Given the description of an element on the screen output the (x, y) to click on. 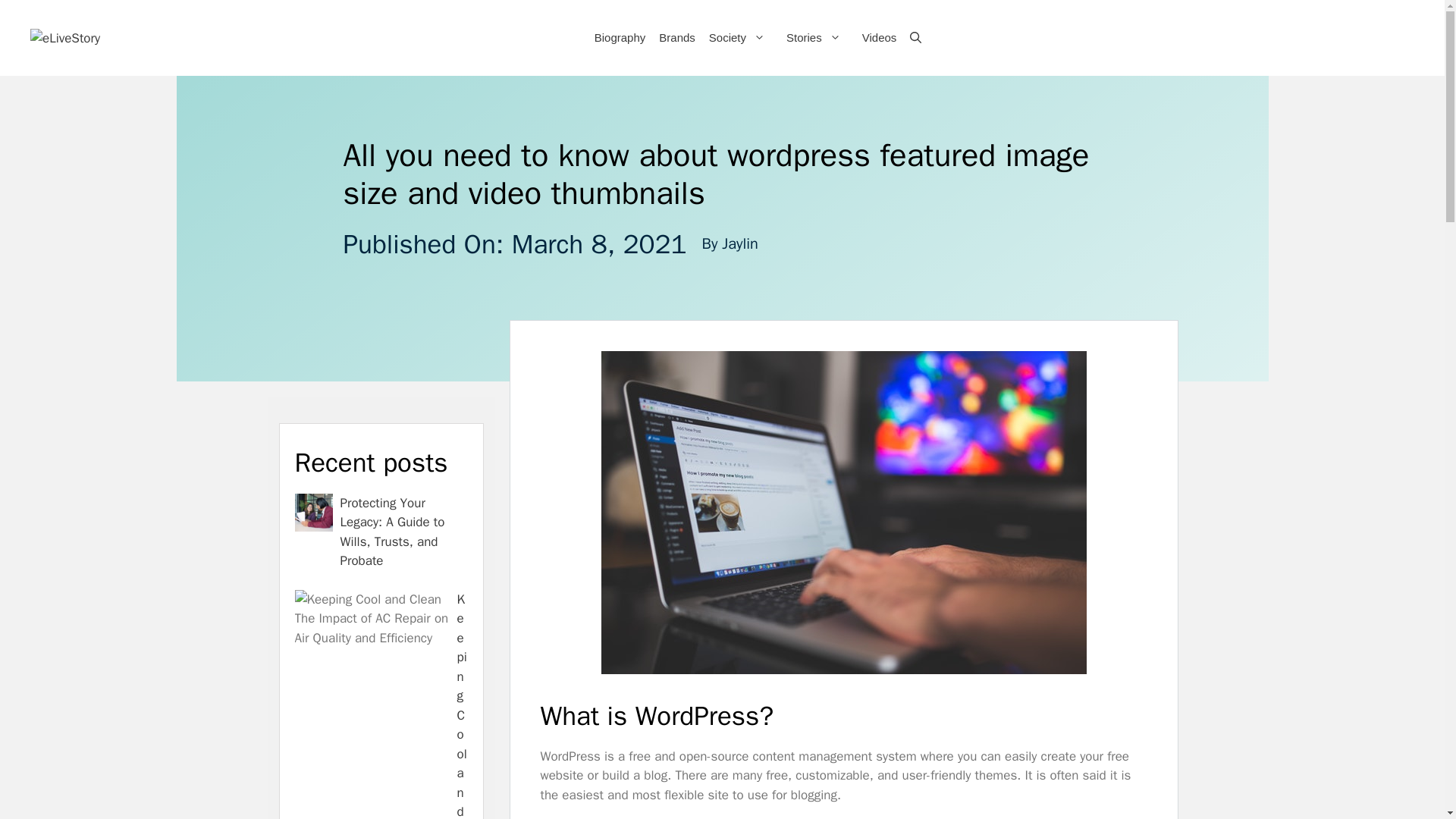
Society (739, 37)
Stories (816, 37)
Brands (675, 37)
Videos (878, 37)
Biography (619, 37)
